Given the description of an element on the screen output the (x, y) to click on. 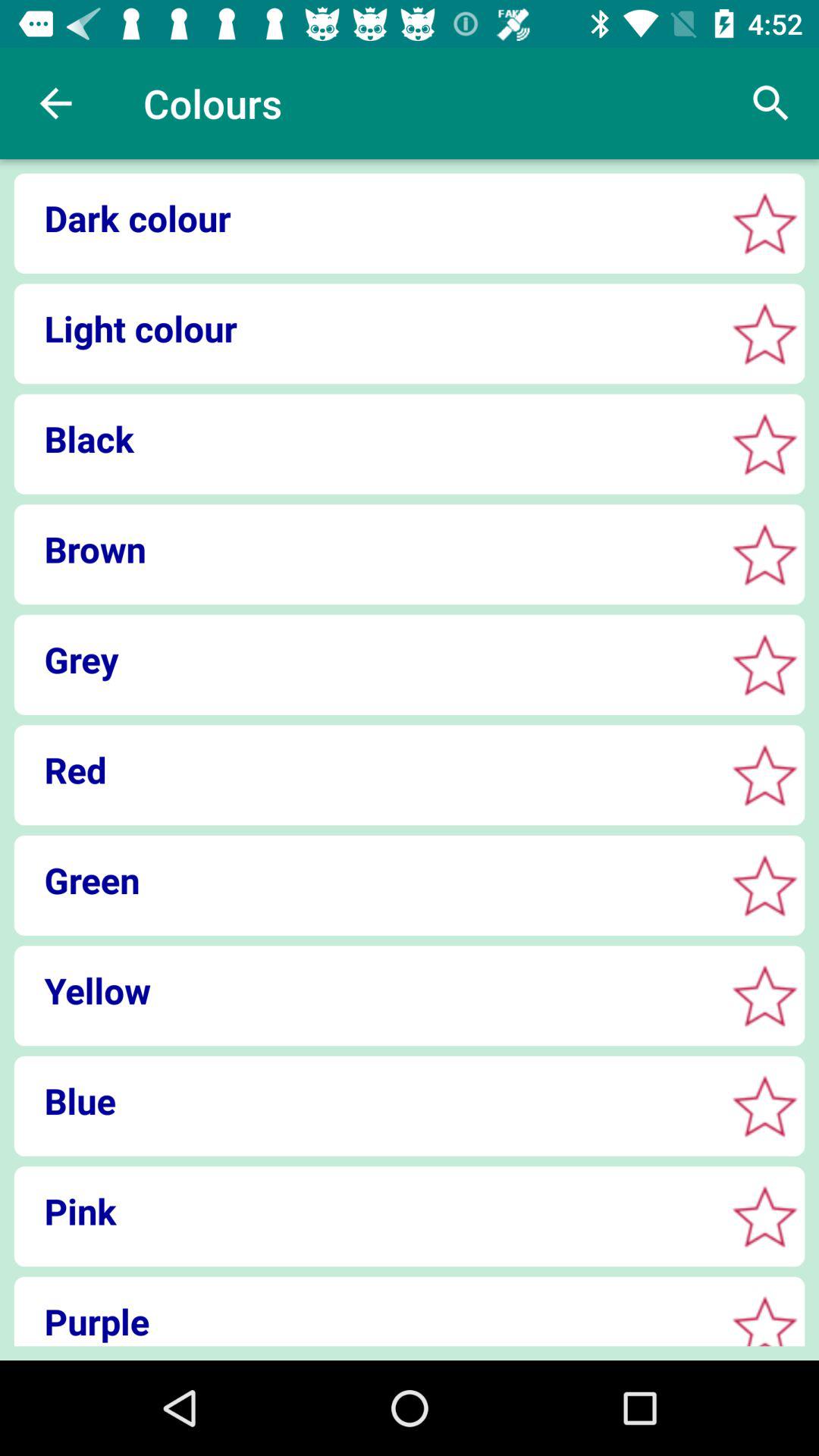
save yellow as favorite (764, 995)
